Given the description of an element on the screen output the (x, y) to click on. 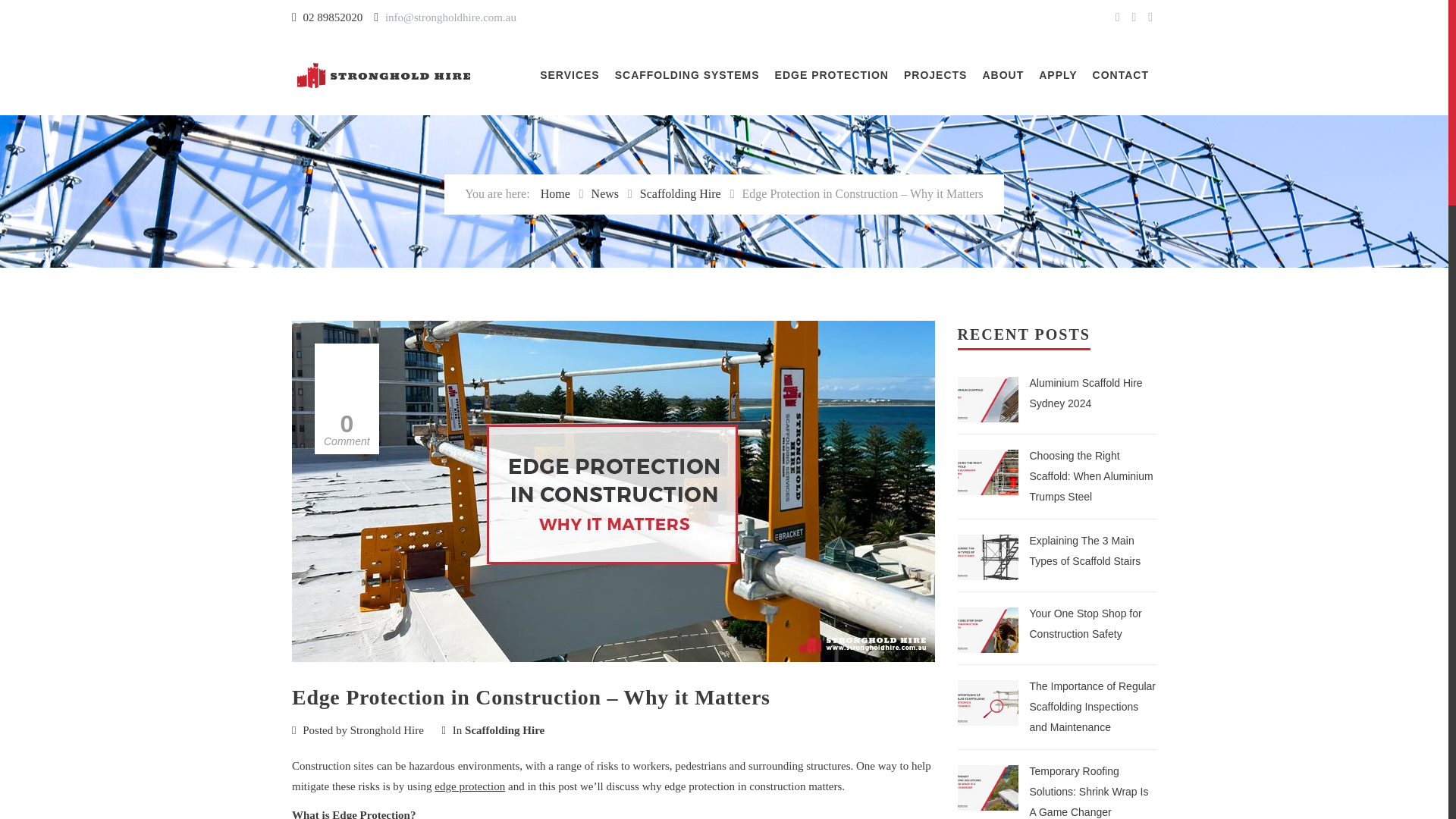
SCAFFOLDING SYSTEMS (687, 75)
EDGE PROTECTION (831, 75)
